Given the description of an element on the screen output the (x, y) to click on. 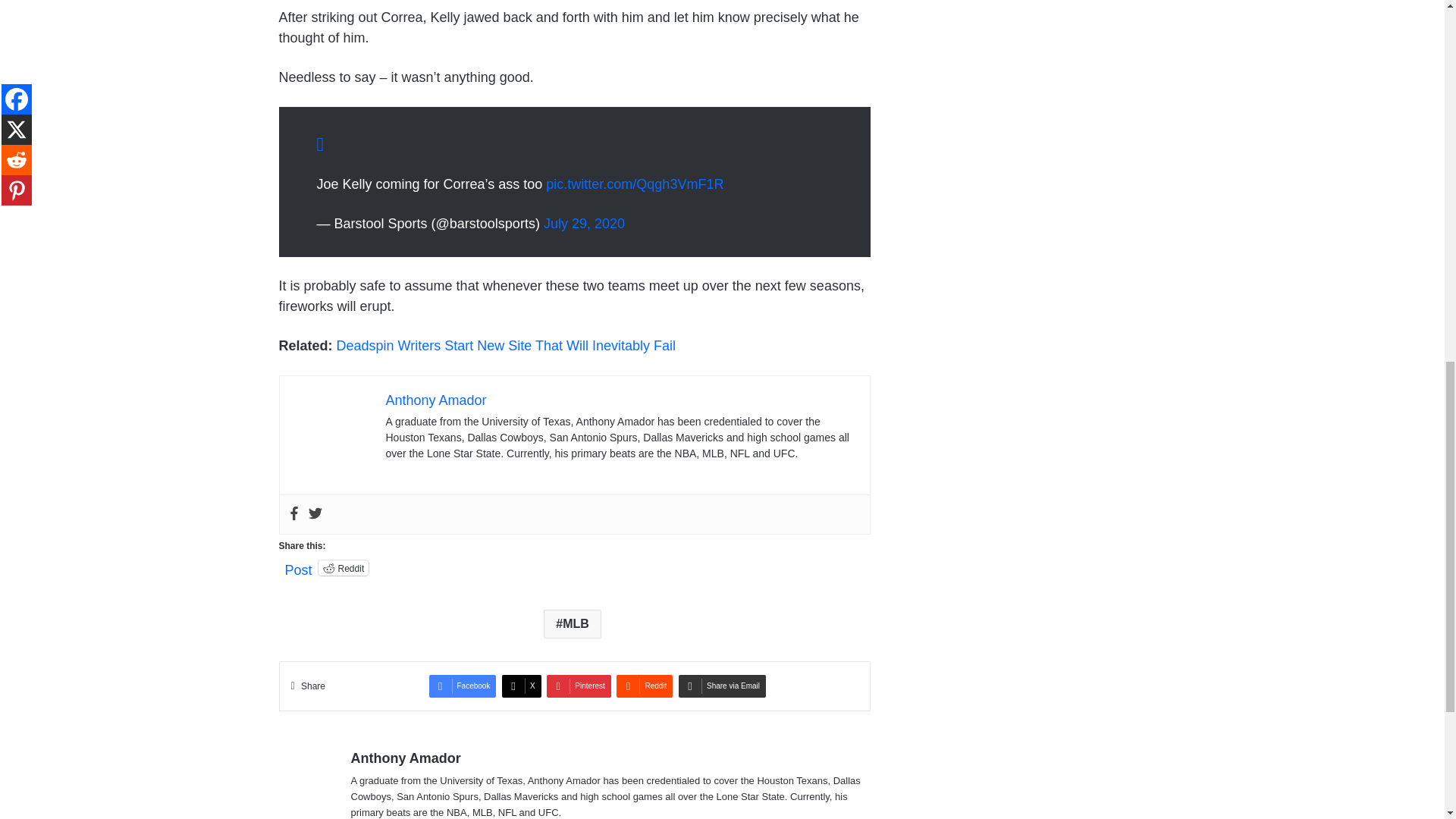
Deadspin Writers Start New Site That Will Inevitably Fail (506, 345)
Deadspin Writers Start New Site That Will Inevitably Fail (506, 345)
Post (299, 567)
Anthony Amador (435, 400)
July 29, 2020 (583, 223)
Reddit (343, 567)
